Given the description of an element on the screen output the (x, y) to click on. 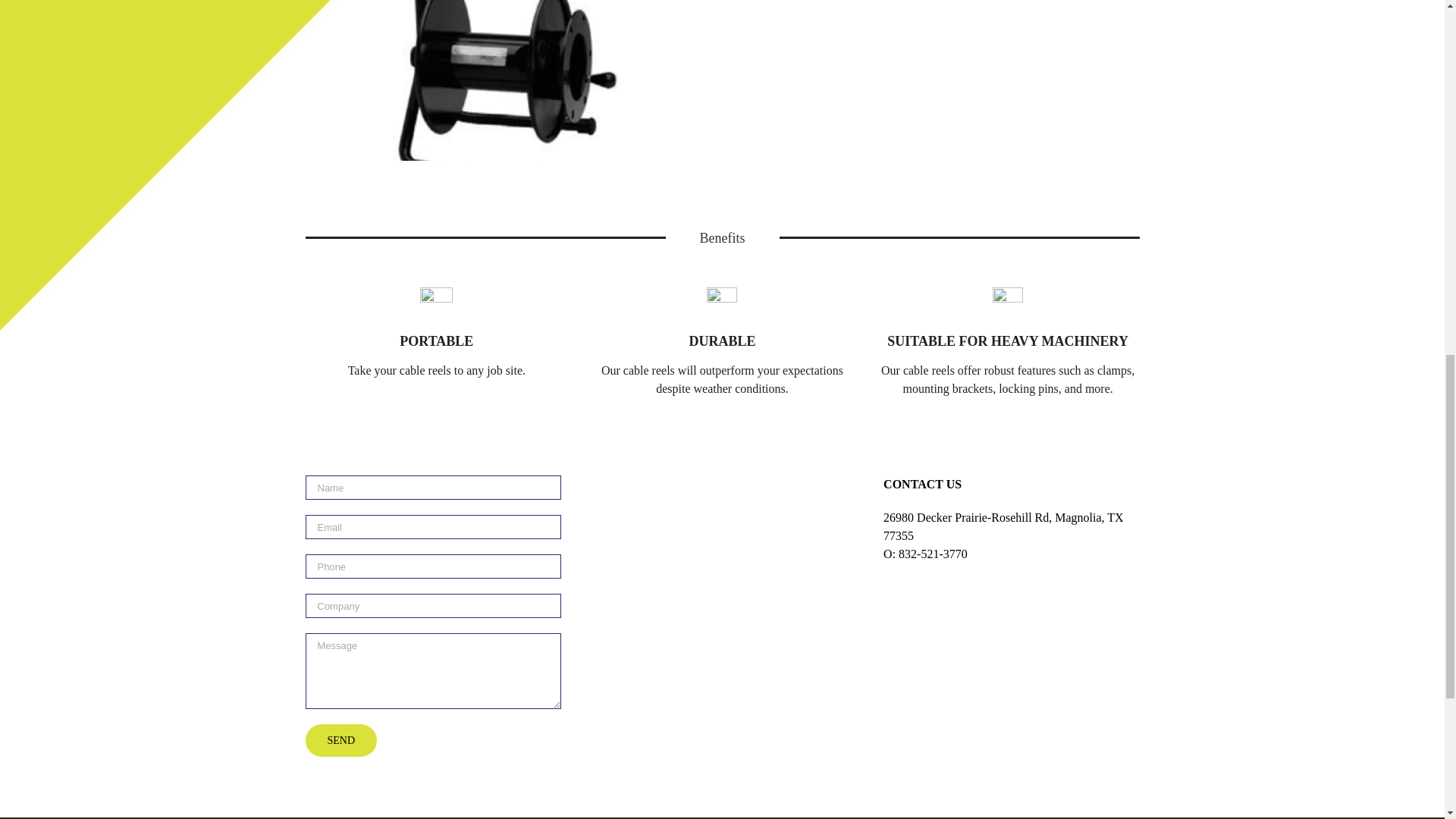
Send (340, 739)
unnamed-7 (938, 94)
Wildcat2 (504, 94)
